Given the description of an element on the screen output the (x, y) to click on. 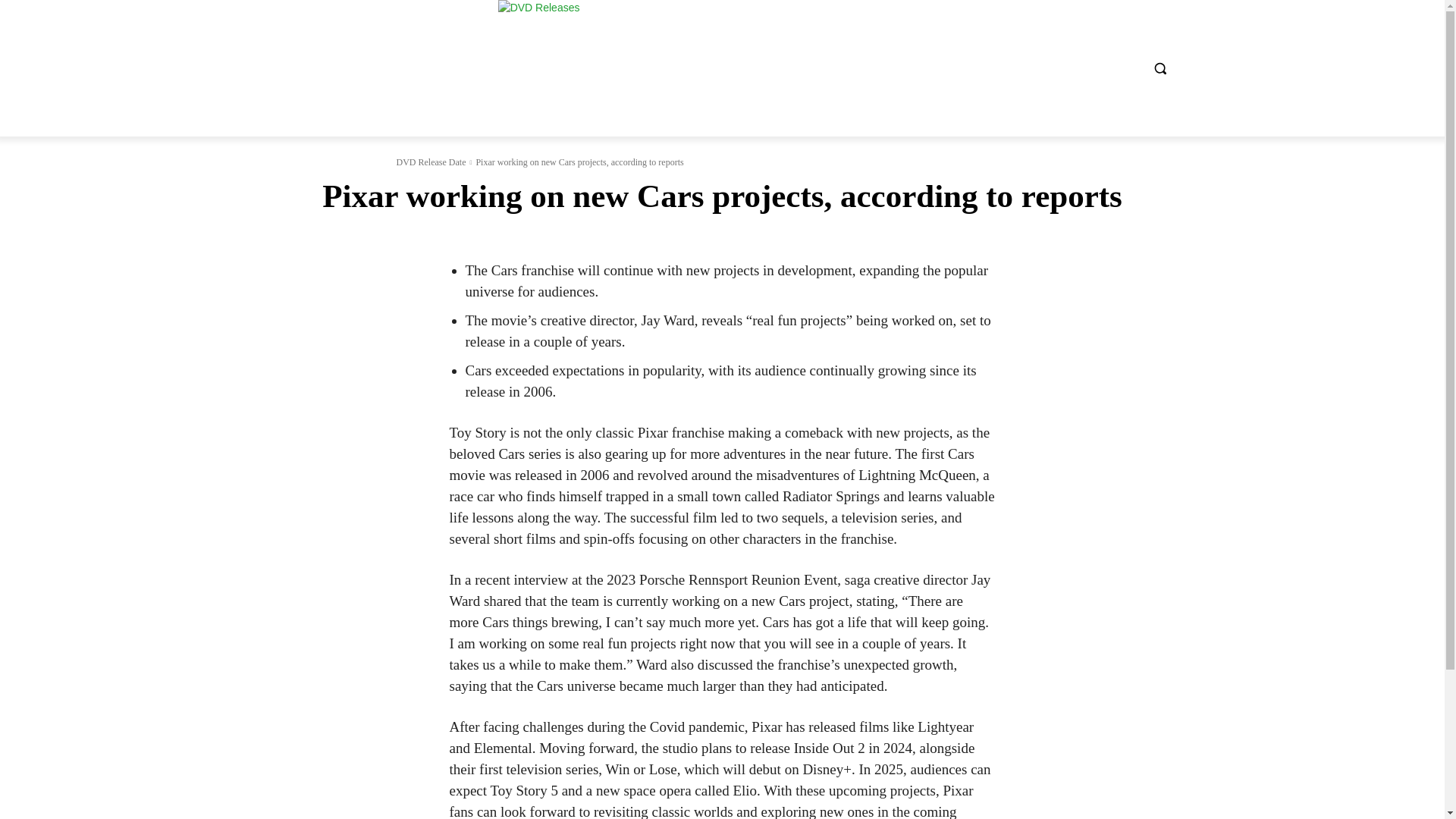
DVDs Release Dates (702, 68)
DVD Release Date (430, 162)
DVDs Release Dates (704, 68)
